Given the description of an element on the screen output the (x, y) to click on. 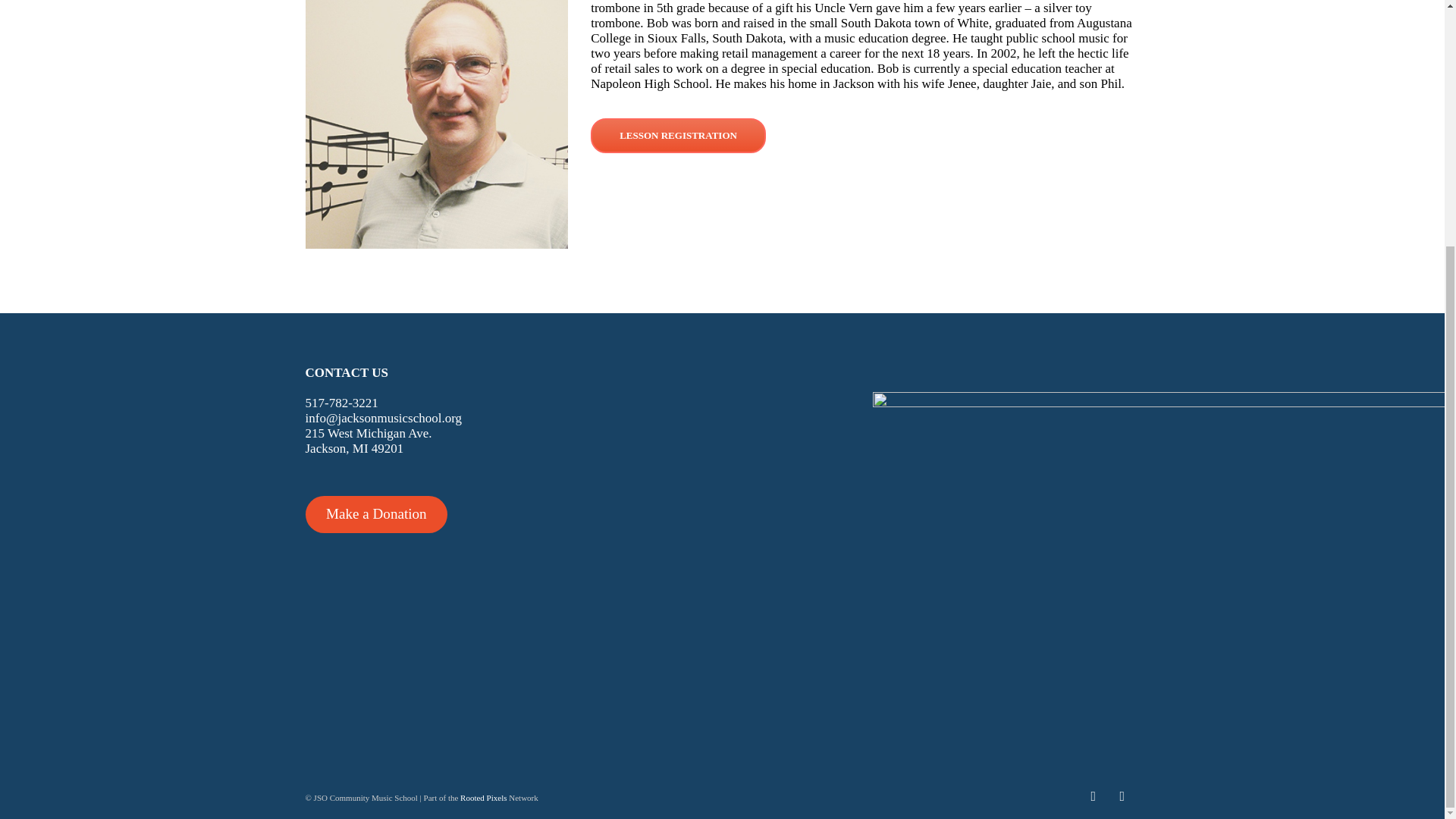
LESSON REGISTRATION (678, 135)
Bob WoodardDONE (435, 124)
Lesson Registration (678, 135)
